Given the description of an element on the screen output the (x, y) to click on. 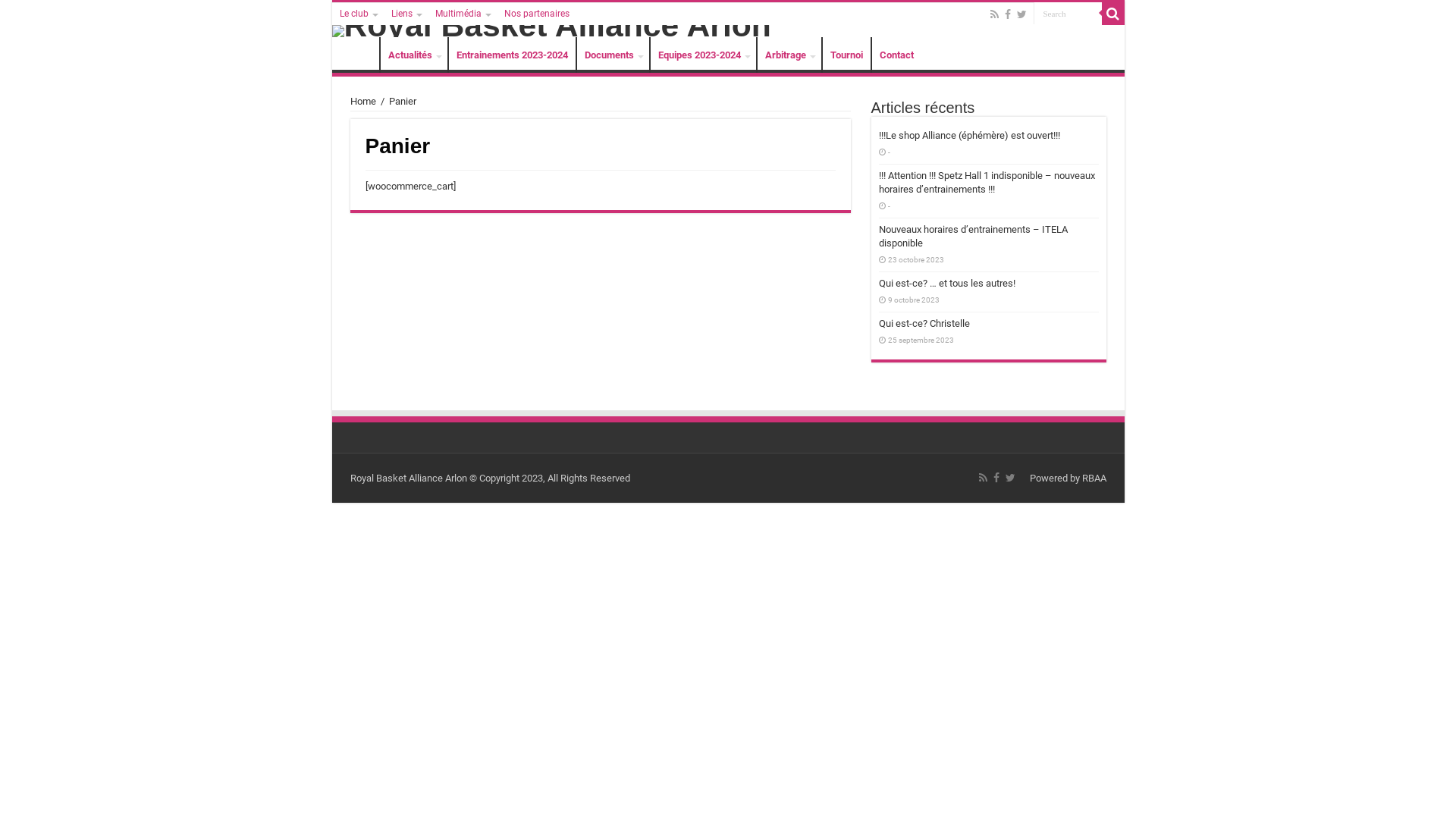
Le club Element type: text (357, 13)
Rss Element type: hover (982, 477)
Entrainements 2023-2024 Element type: text (510, 54)
Facebook Element type: hover (996, 477)
Equipes 2023-2024 Element type: text (702, 54)
Rss Element type: hover (994, 14)
Contact Element type: text (895, 54)
Arbitrage Element type: text (788, 54)
Liens Element type: text (405, 13)
Search Element type: hover (1066, 13)
Accueil Element type: text (359, 54)
RBAA Element type: text (1093, 477)
Qui est-ce? Christelle Element type: text (923, 323)
Search Element type: text (1112, 13)
Twitter Element type: hover (1020, 14)
Tournoi Element type: text (846, 54)
Home Element type: text (363, 100)
Facebook Element type: hover (1006, 14)
Royal Basket Alliance Arlon Element type: hover (728, 20)
Twitter Element type: hover (1010, 477)
Nos partenaires Element type: text (535, 13)
Documents Element type: text (612, 54)
